Given the description of an element on the screen output the (x, y) to click on. 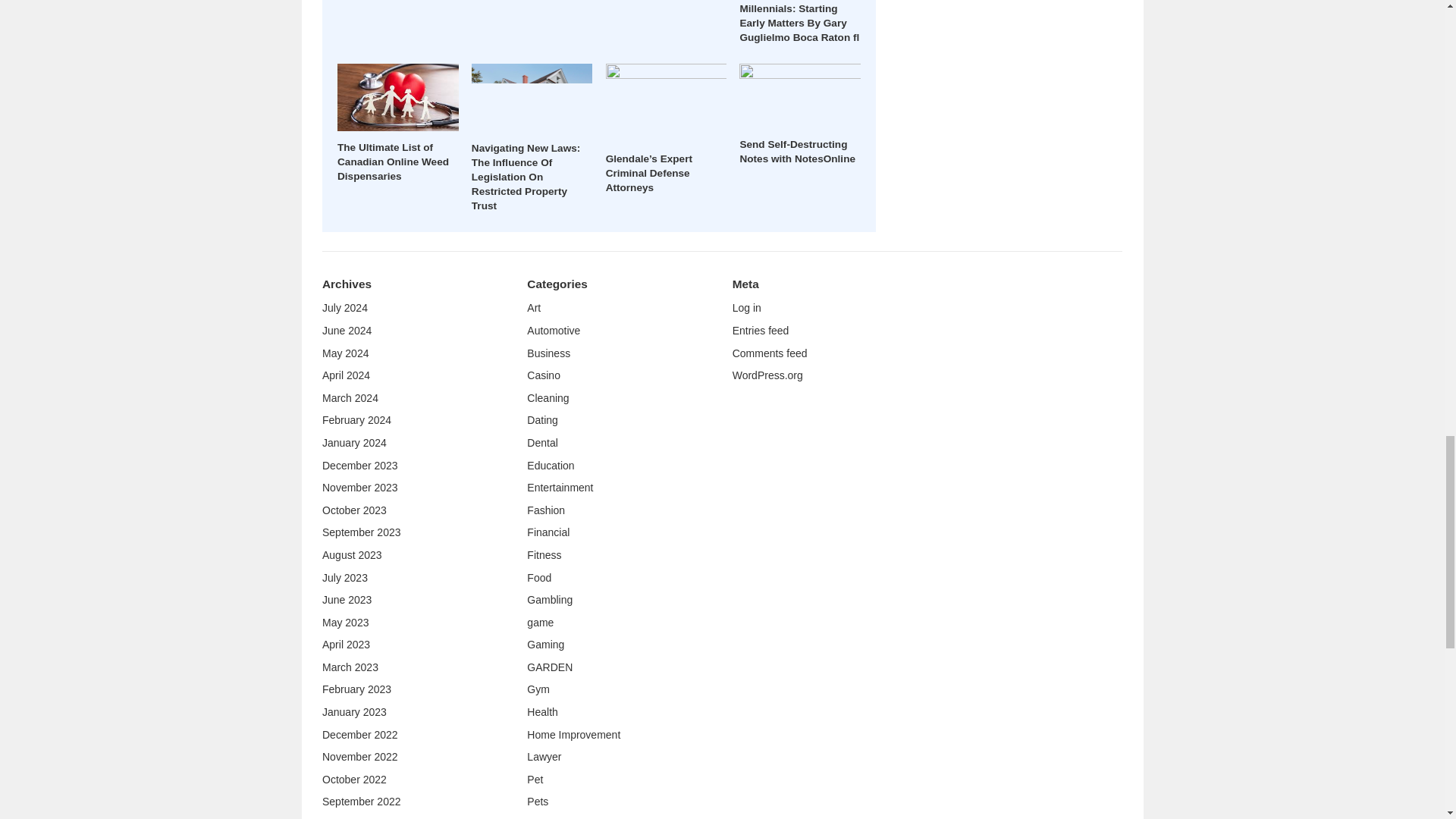
Send Self-Destructing Notes with NotesOnline (797, 151)
The Ultimate List of Canadian Online Weed Dispensaries (392, 161)
